Given the description of an element on the screen output the (x, y) to click on. 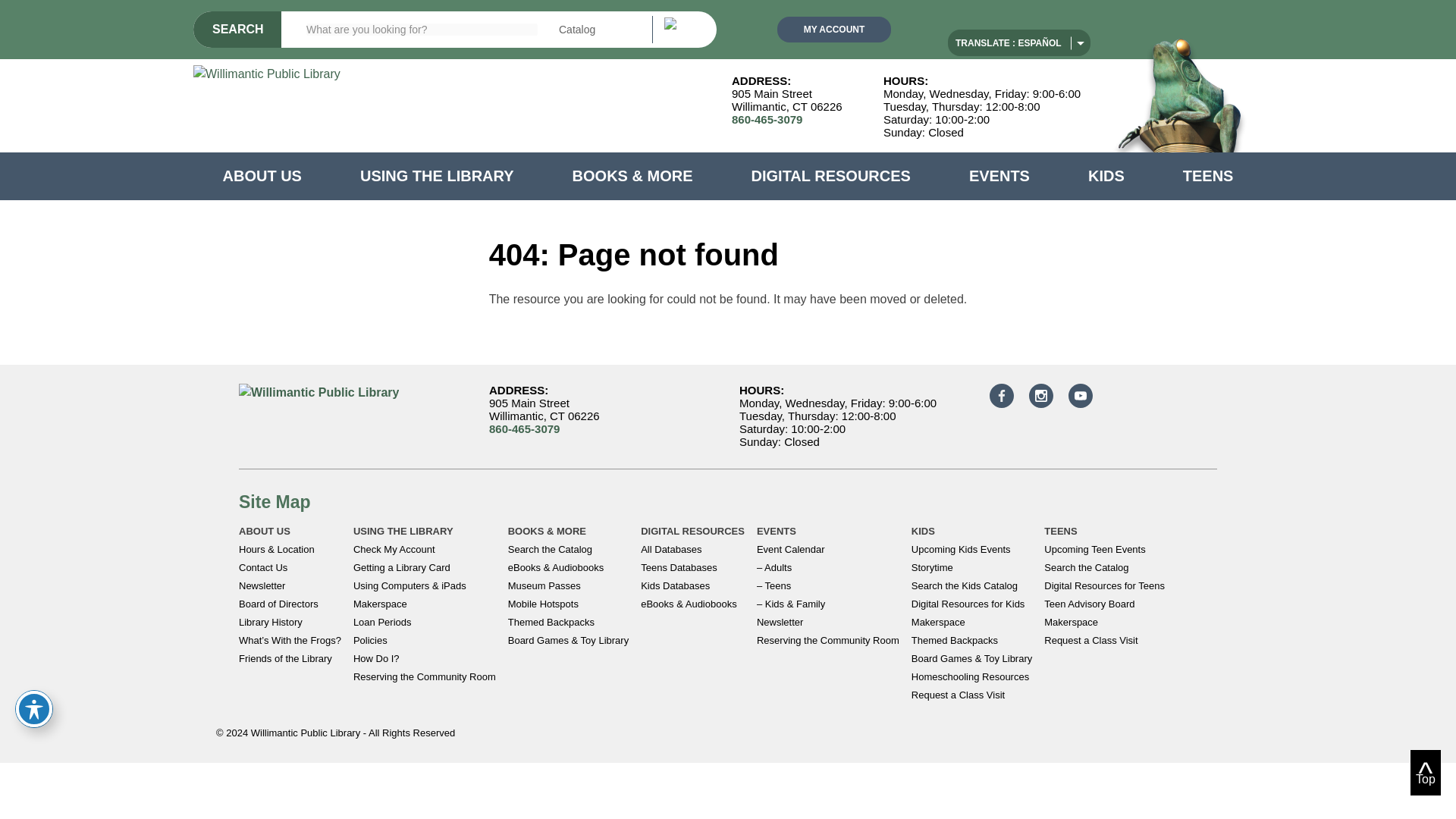
MY ACCOUNT (834, 29)
EVENTS (999, 175)
860-465-3079 (767, 119)
DIGITAL RESOURCES (831, 175)
ABOUT US (262, 175)
USING THE LIBRARY (437, 175)
